Given the description of an element on the screen output the (x, y) to click on. 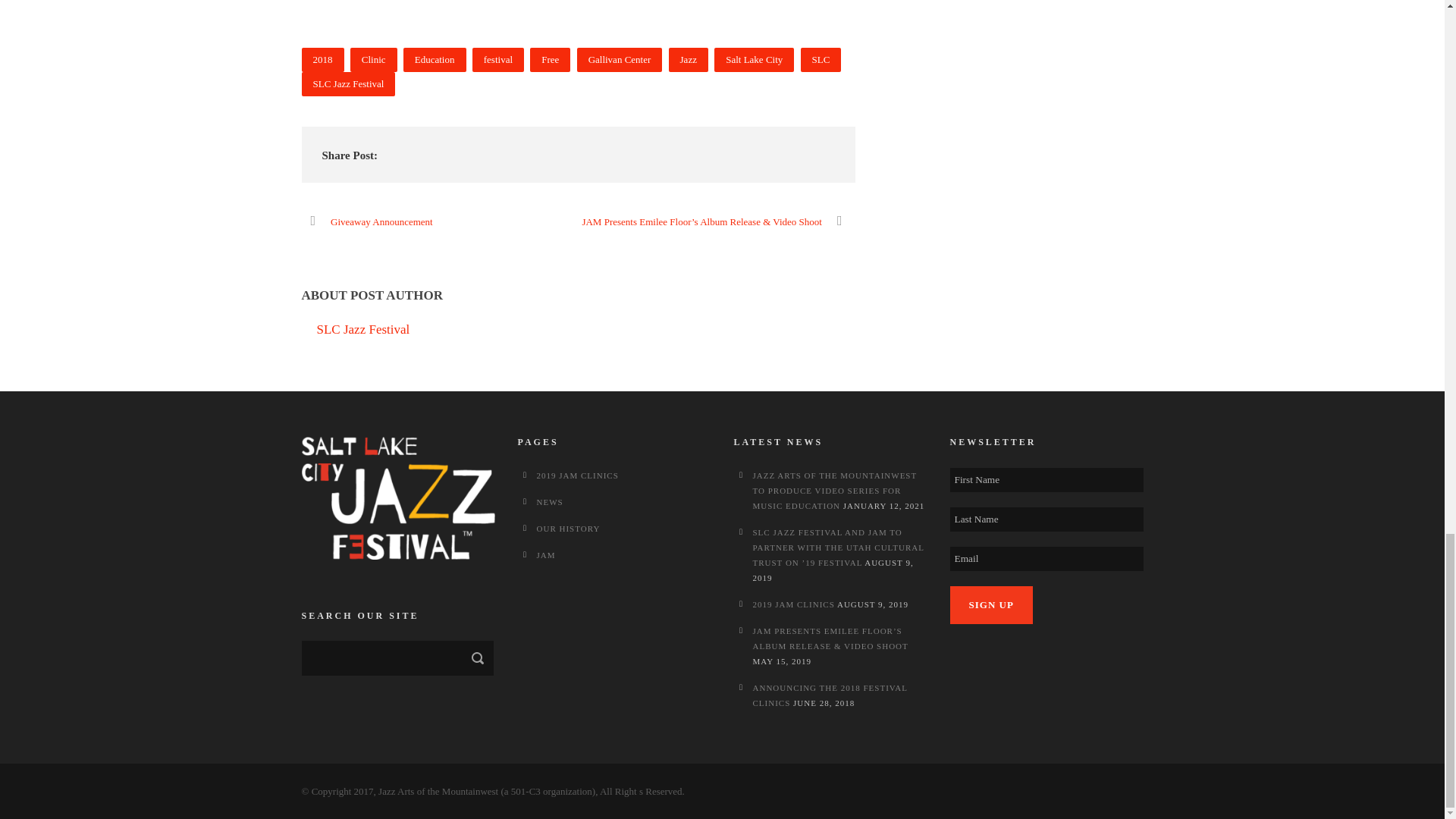
festival (497, 59)
Gallivan Center (619, 59)
SLC Jazz Festival (348, 84)
2018 (322, 59)
Salt Lake City (753, 59)
Clinic (373, 59)
Sign up (990, 605)
Posts by SLC Jazz Festival (363, 329)
Education (434, 59)
SLC (820, 59)
Jazz (687, 59)
Free (549, 59)
